Given the description of an element on the screen output the (x, y) to click on. 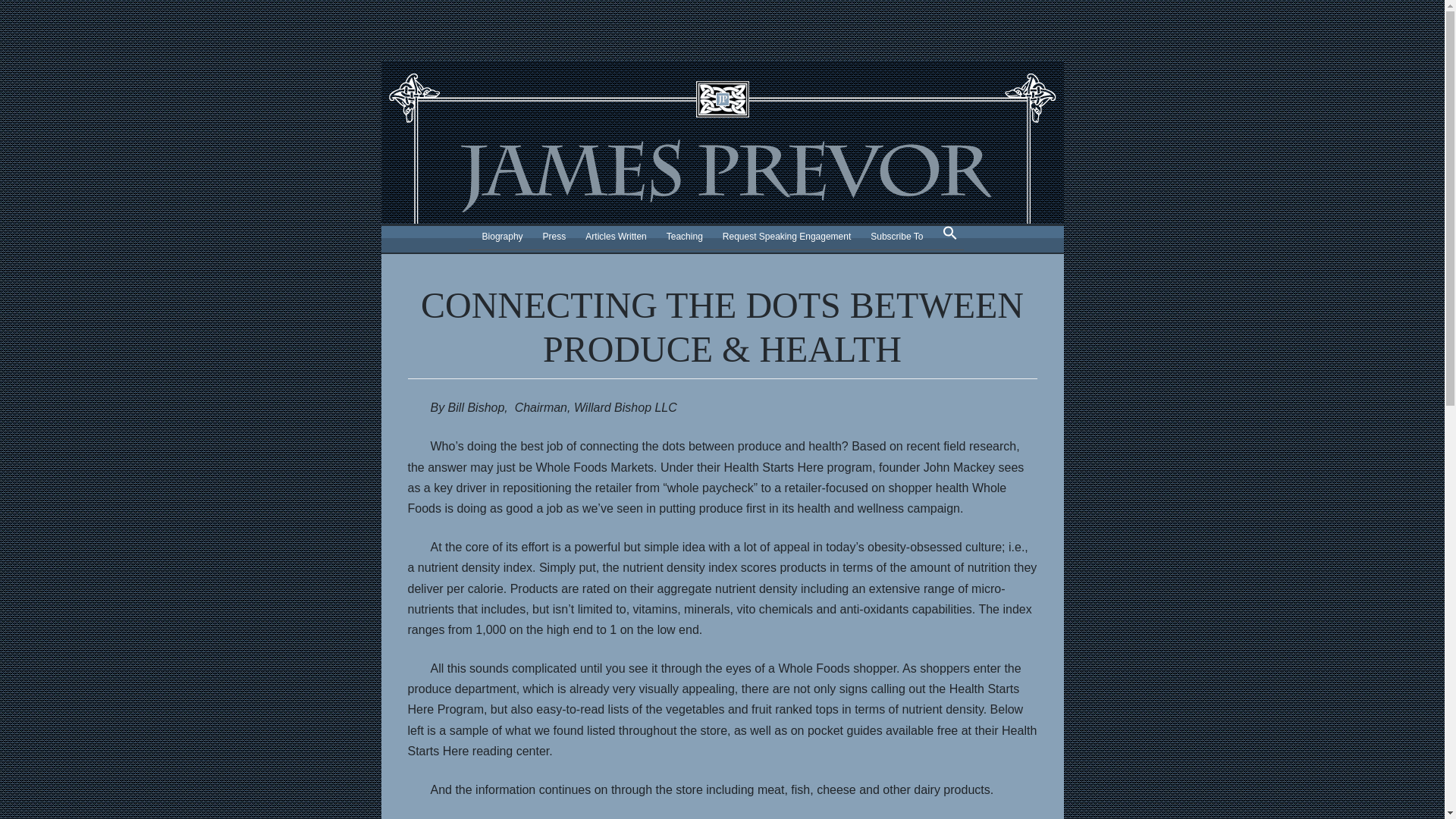
Articles Written (615, 236)
Biography (502, 236)
Press (554, 236)
Articles Written (615, 236)
Biography (502, 236)
Press (554, 236)
